Given the description of an element on the screen output the (x, y) to click on. 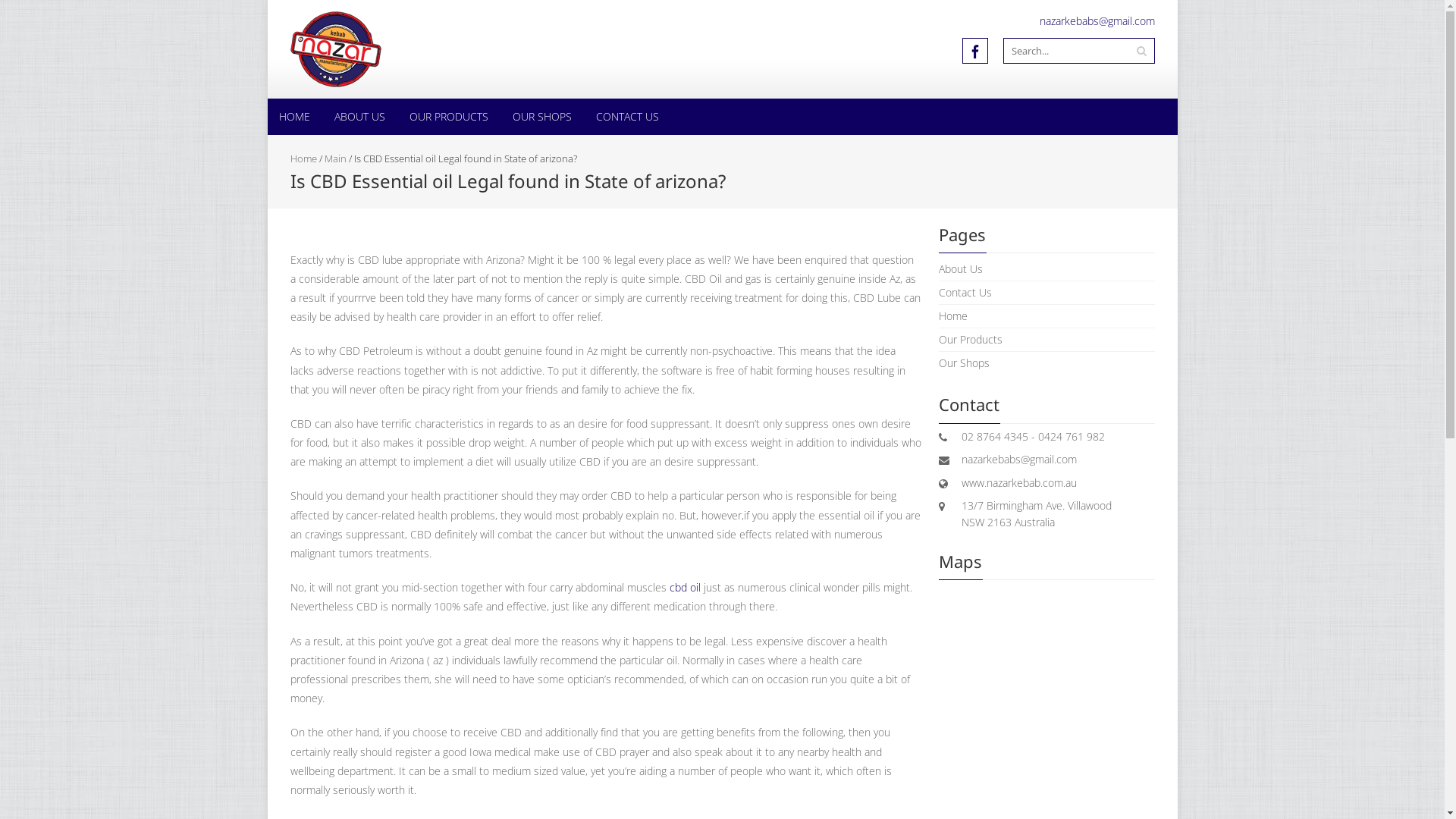
Our Shops Element type: text (963, 362)
Main Element type: text (335, 158)
HOME Element type: text (293, 116)
CONTACT US Element type: text (626, 116)
cbd oil Element type: text (683, 587)
Contact Us Element type: text (964, 292)
About Us Element type: text (960, 268)
Home Element type: text (952, 315)
ABOUT US Element type: text (359, 116)
Our Products Element type: text (970, 339)
OUR PRODUCTS Element type: text (447, 116)
OUR SHOPS Element type: text (541, 116)
Home Element type: text (302, 158)
